Given the description of an element on the screen output the (x, y) to click on. 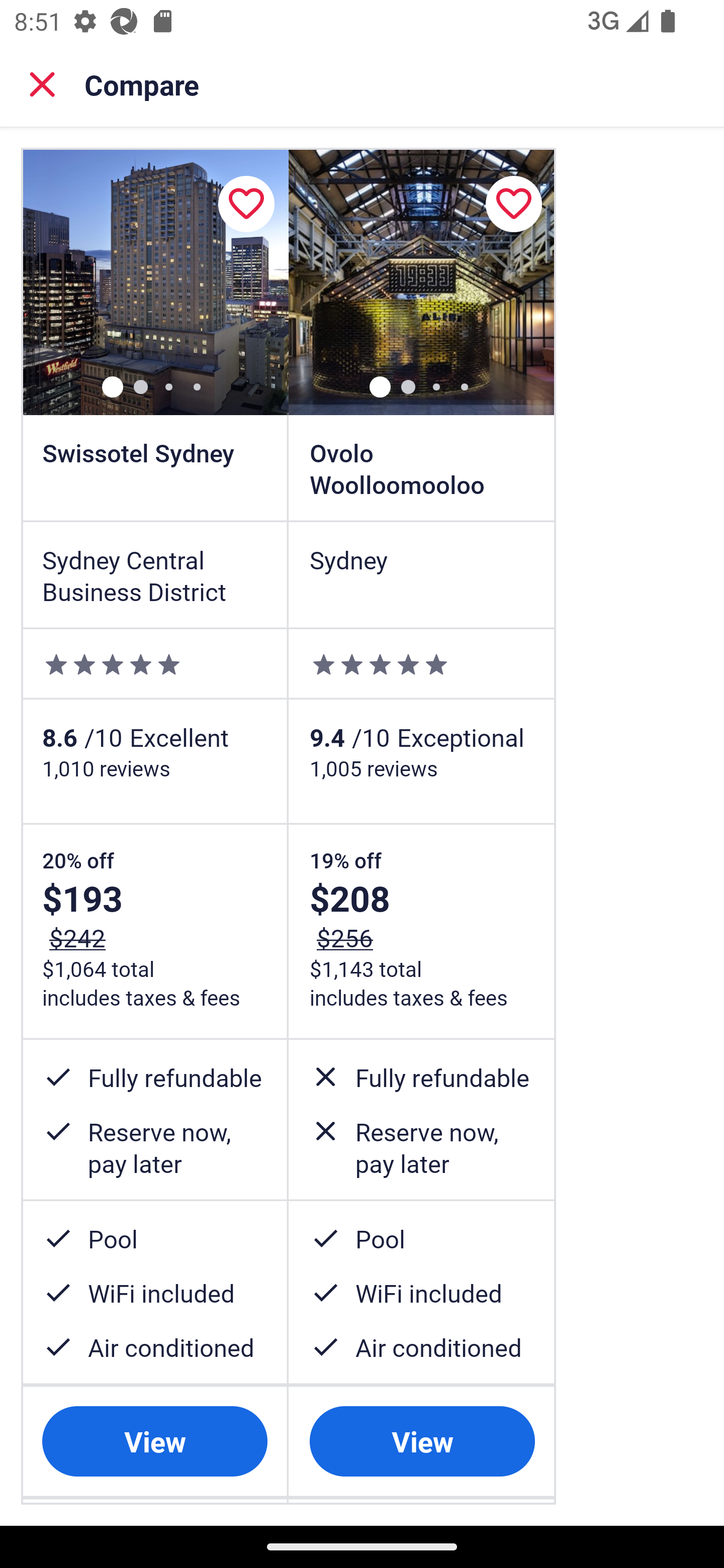
Close, back to property search. (42, 84)
Save Swissotel Sydney to a trip (246, 203)
Save Ovolo Woolloomooloo to a trip (513, 203)
